Given the description of an element on the screen output the (x, y) to click on. 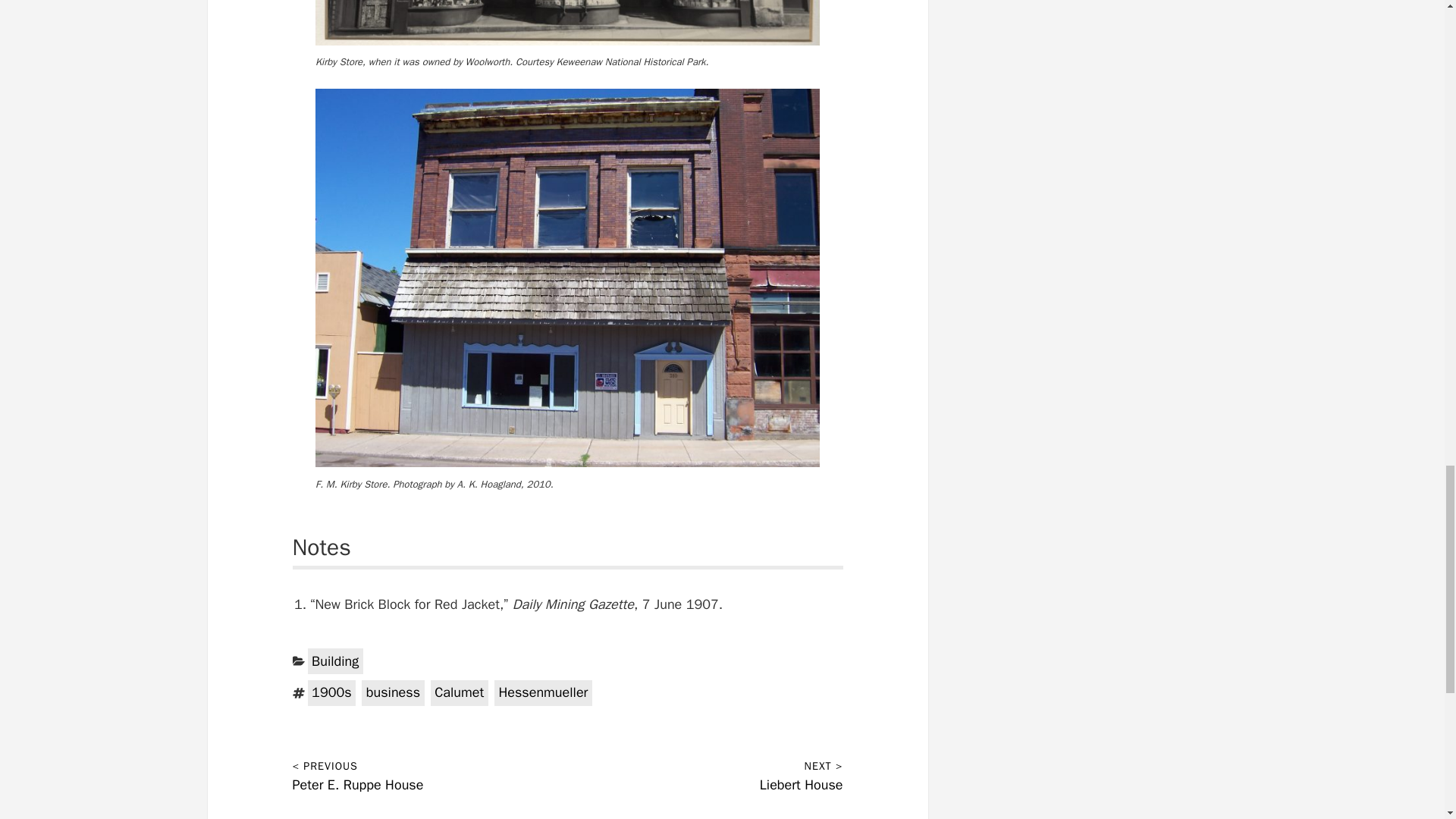
Calumet (458, 692)
1900s (331, 692)
Hessenmueller (543, 692)
business (392, 692)
Building (334, 661)
